Given the description of an element on the screen output the (x, y) to click on. 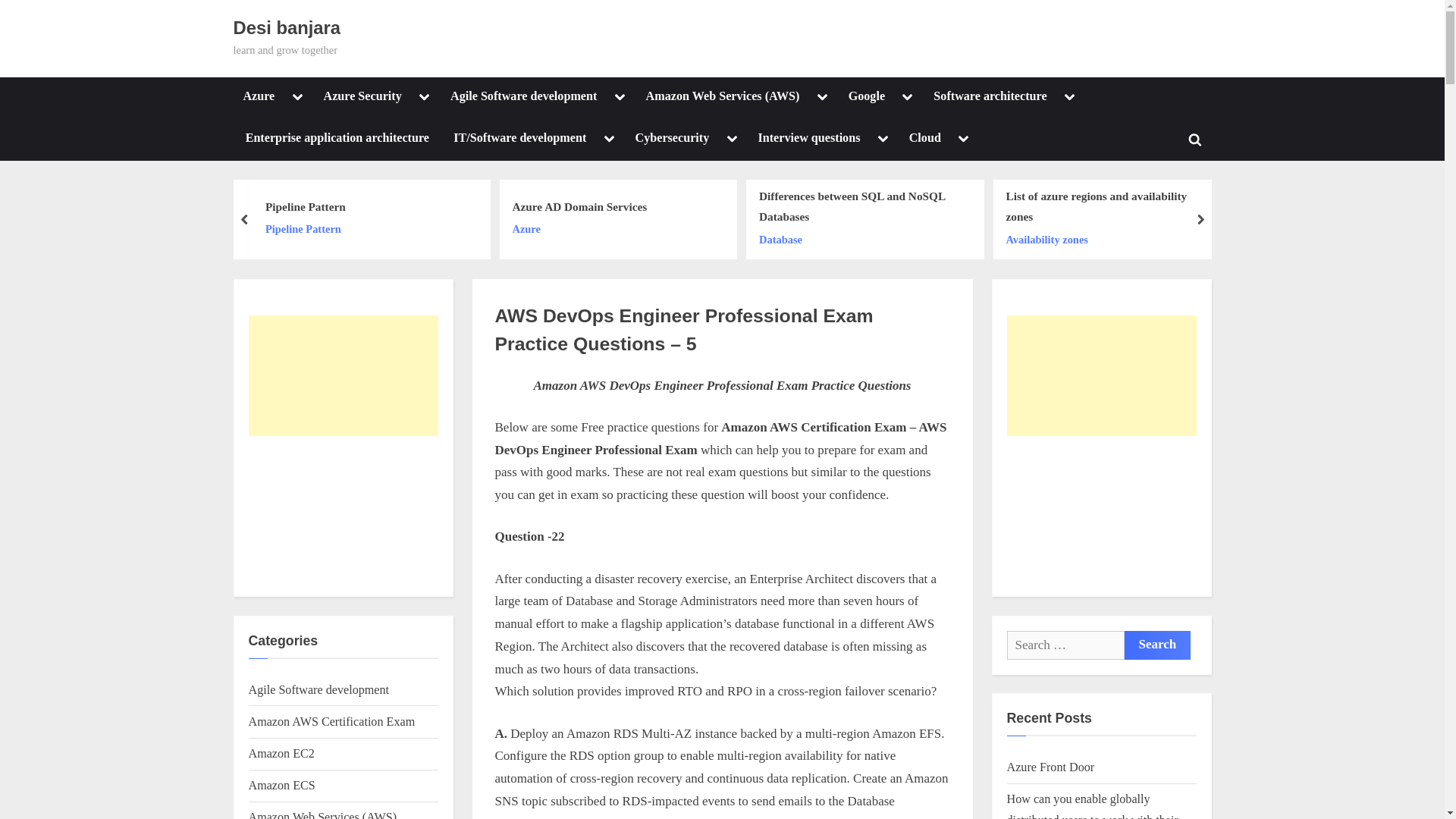
Advertisement (1101, 514)
Toggle sub-menu (296, 97)
Azure (258, 97)
Toggle sub-menu (424, 97)
Search (1157, 645)
Search (1157, 645)
Advertisement (343, 514)
Desi banjara (286, 27)
Azure Security (363, 97)
